Given the description of an element on the screen output the (x, y) to click on. 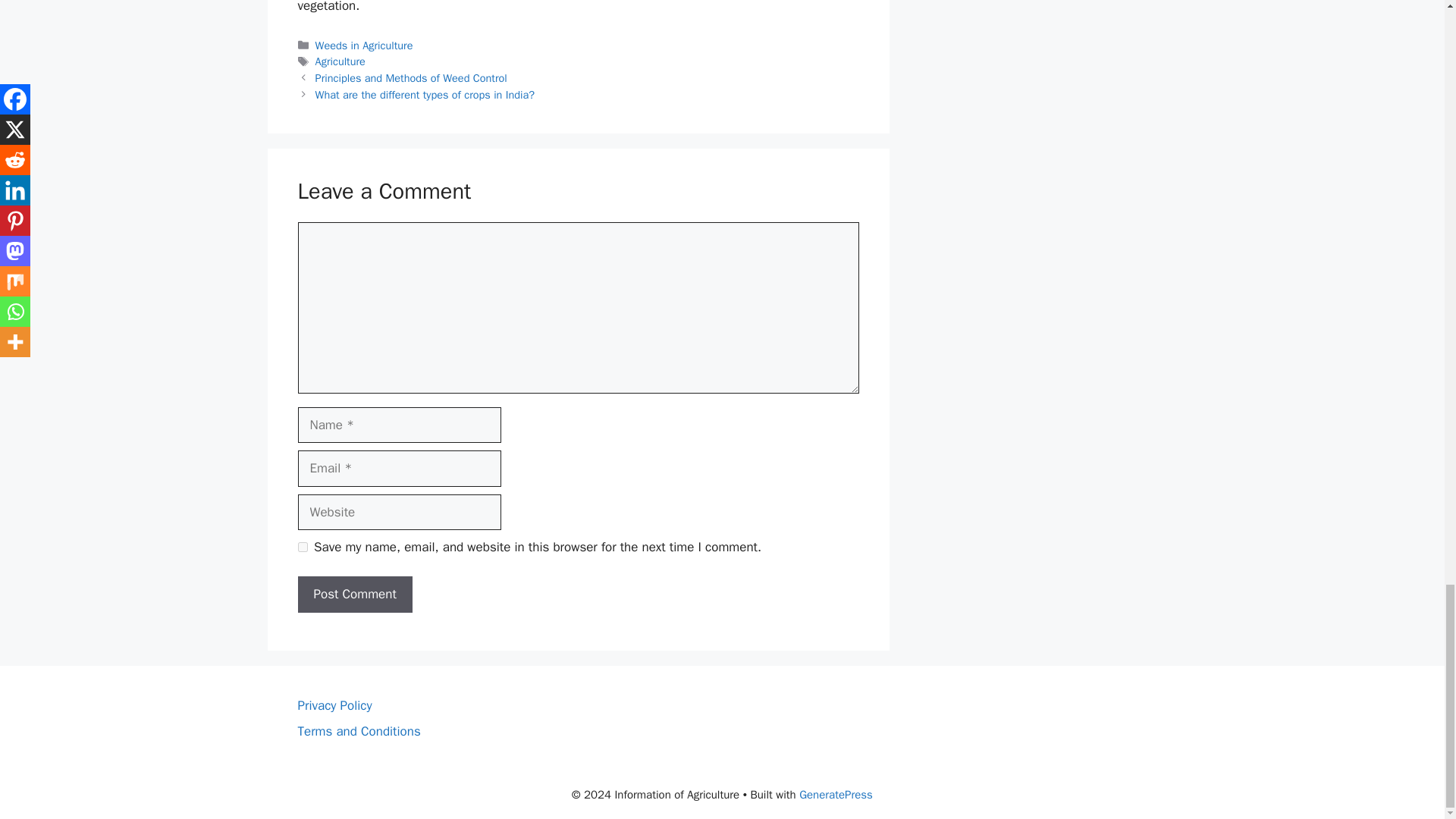
yes (302, 547)
Post Comment (354, 594)
